Given the description of an element on the screen output the (x, y) to click on. 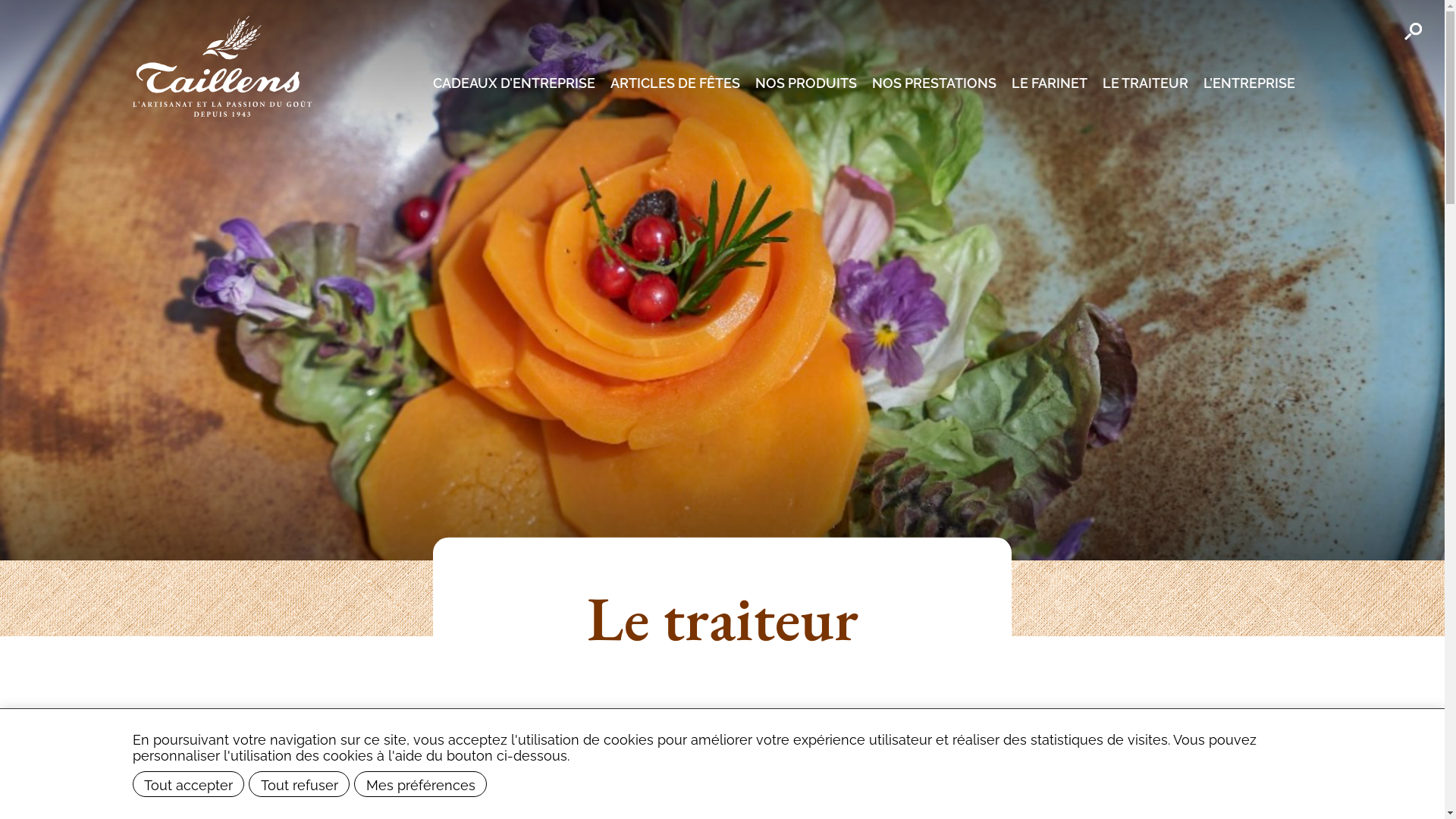
LE TRAITEUR Element type: text (1145, 81)
NOS PRODUITS Element type: text (805, 81)
Tout accepter Element type: text (188, 784)
LE FARINET Element type: text (1049, 81)
Rechercher Element type: text (1412, 31)
Tout refuser Element type: text (298, 784)
NOS PRESTATIONS Element type: text (934, 81)
